Given the description of an element on the screen output the (x, y) to click on. 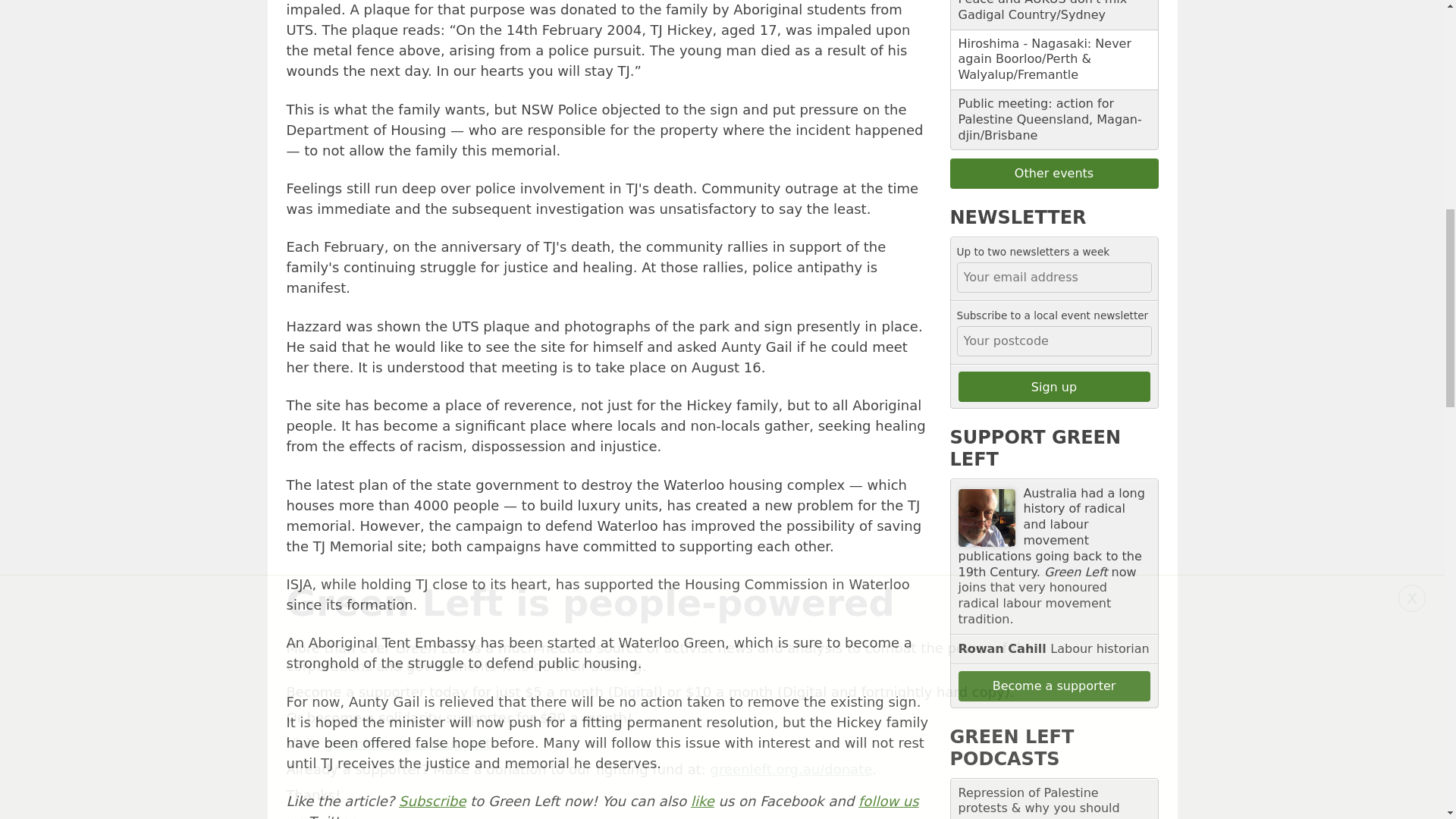
Sign up (1054, 386)
